Given the description of an element on the screen output the (x, y) to click on. 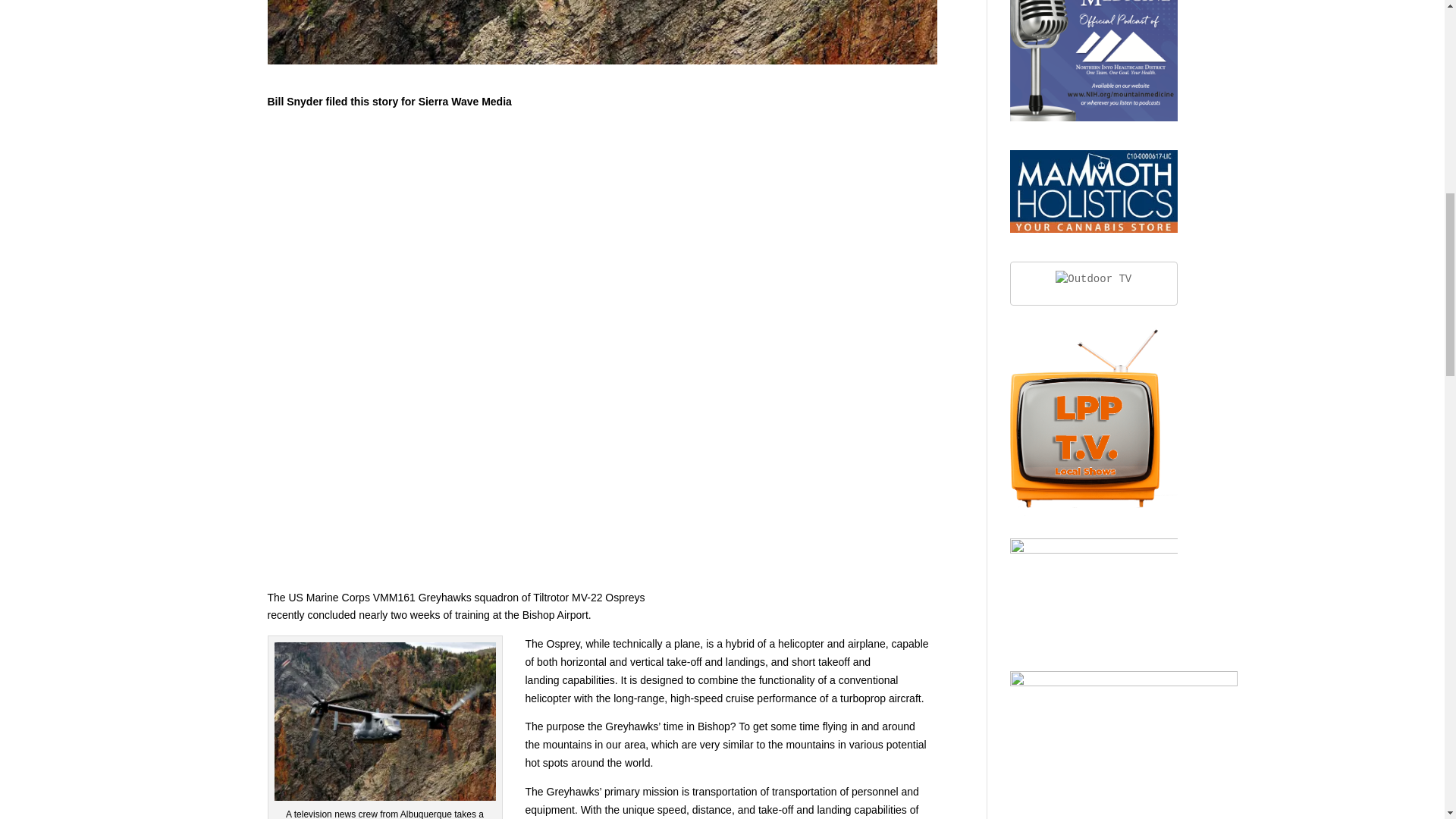
Outside TV (1093, 278)
